Given the description of an element on the screen output the (x, y) to click on. 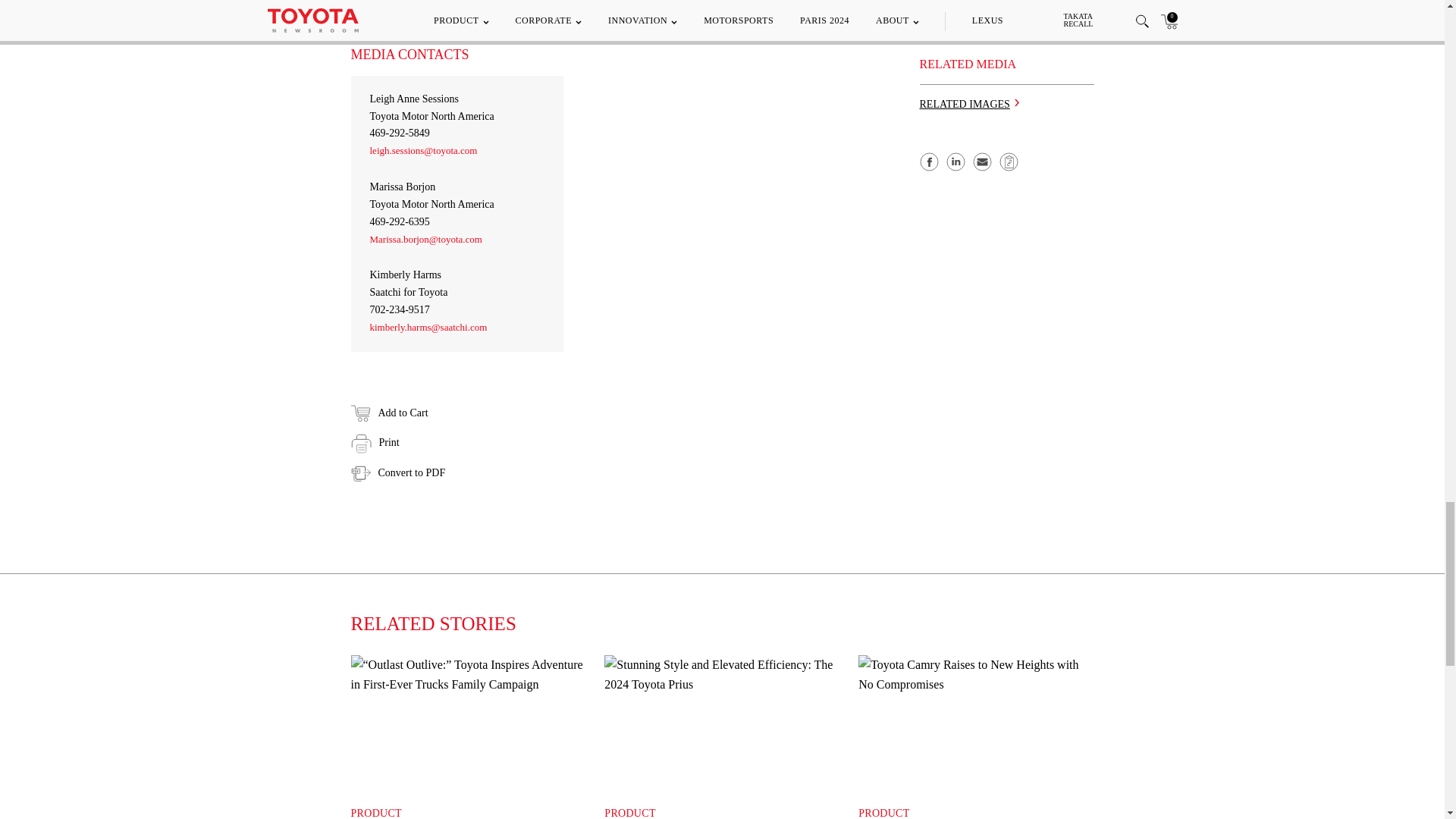
Product (883, 813)
Product (375, 813)
Product (629, 813)
